Given the description of an element on the screen output the (x, y) to click on. 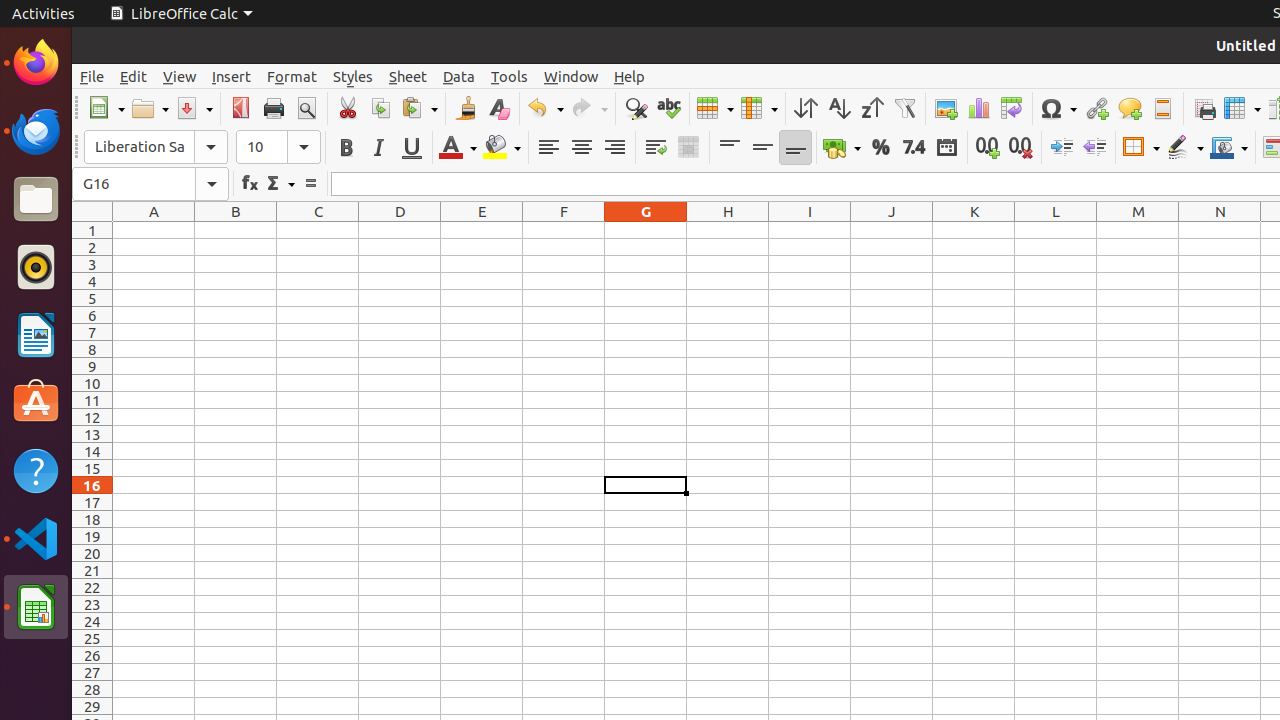
F1 Element type: table-cell (564, 230)
Align Center Element type: push-button (581, 147)
Print Element type: push-button (273, 108)
Underline Element type: push-button (411, 147)
View Element type: menu (179, 76)
